Given the description of an element on the screen output the (x, y) to click on. 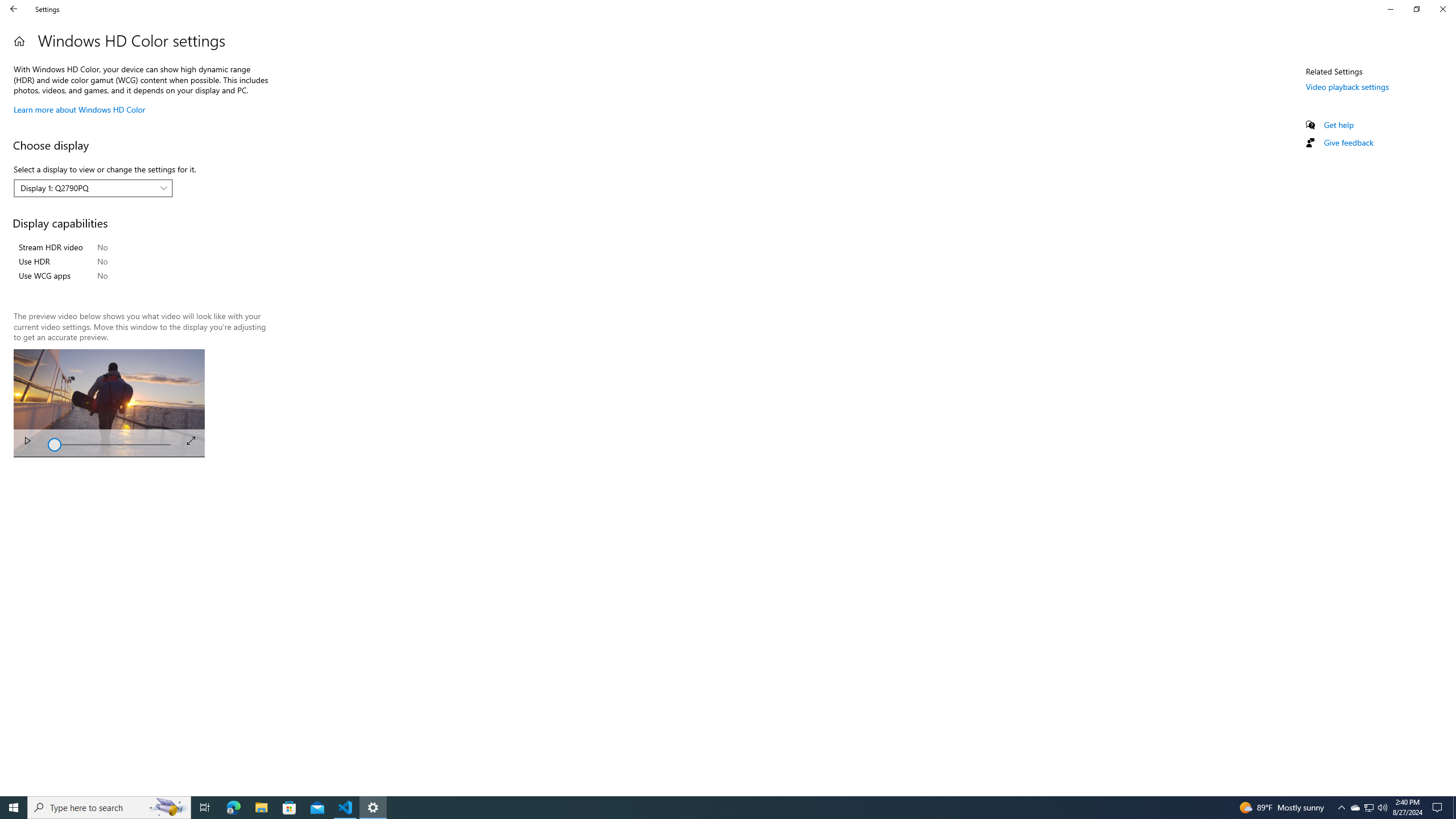
Full Screen (191, 440)
Learn more about Windows HD Color (79, 109)
Video playback settings (1347, 86)
Play (26, 443)
Restore Settings (1416, 9)
Seek (109, 443)
Display 1: Q2790PQ (87, 187)
